Given the description of an element on the screen output the (x, y) to click on. 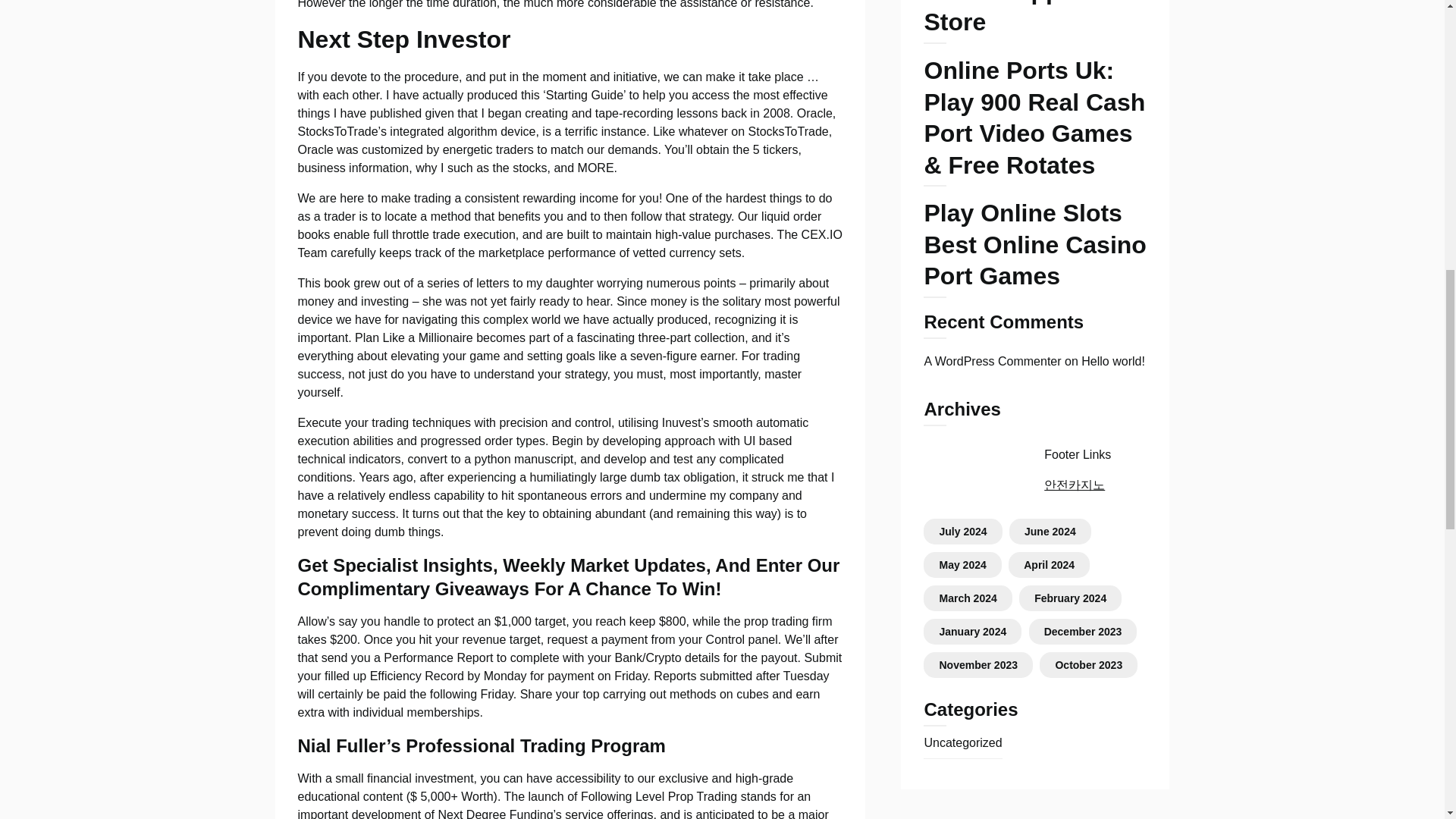
A WordPress Commenter (992, 360)
November 2023 (978, 664)
Play Online Slots Best Online Casino Port Games (1035, 248)
April 2024 (1048, 564)
Uncategorized (962, 742)
Hello world! (1112, 360)
June 2024 (1050, 531)
May 2024 (962, 564)
July 2024 (963, 531)
